Given the description of an element on the screen output the (x, y) to click on. 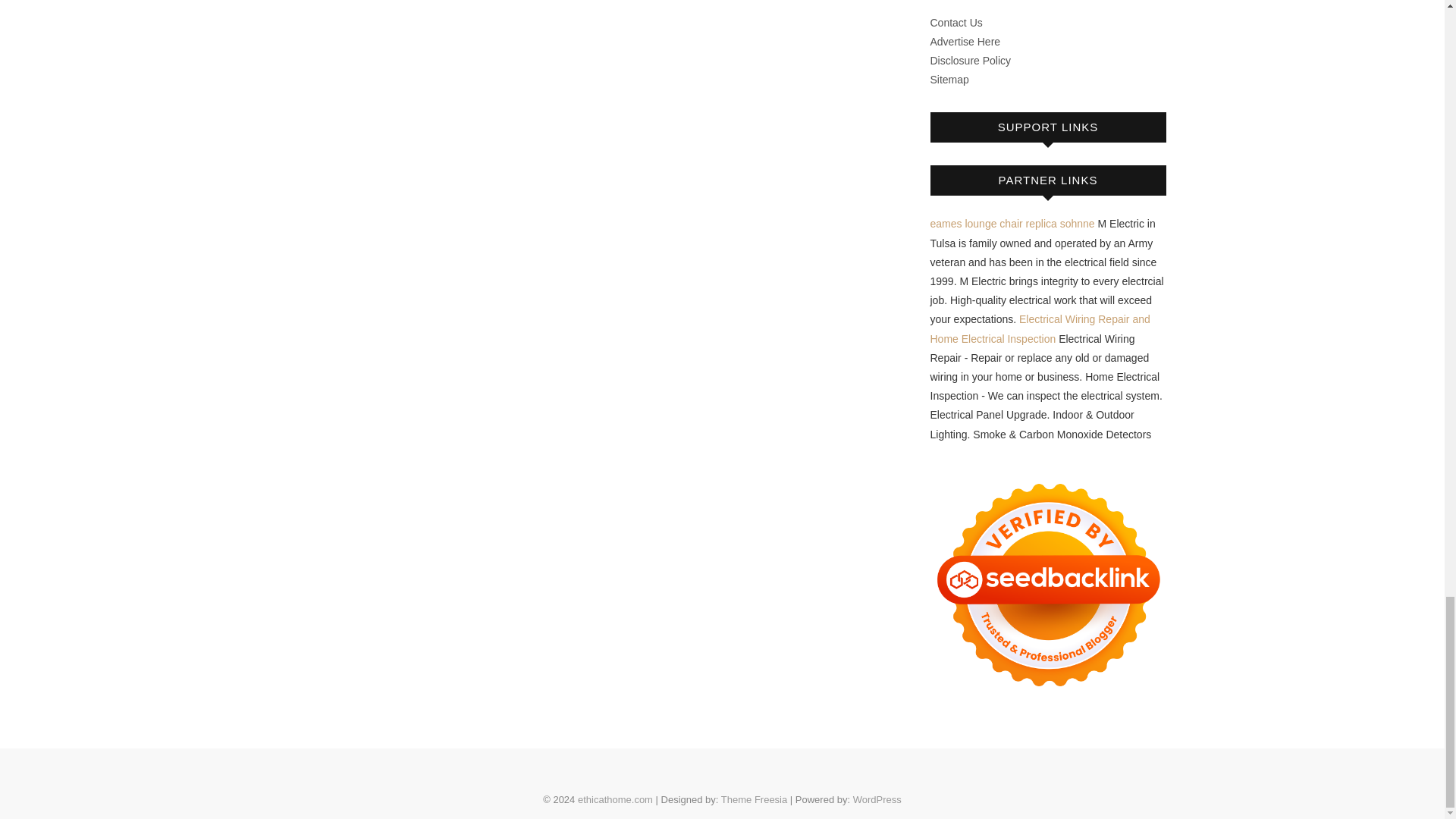
ethicathome.com (615, 799)
Theme Freesia (753, 799)
Seedbacklink (1048, 584)
WordPress (877, 799)
